Given the description of an element on the screen output the (x, y) to click on. 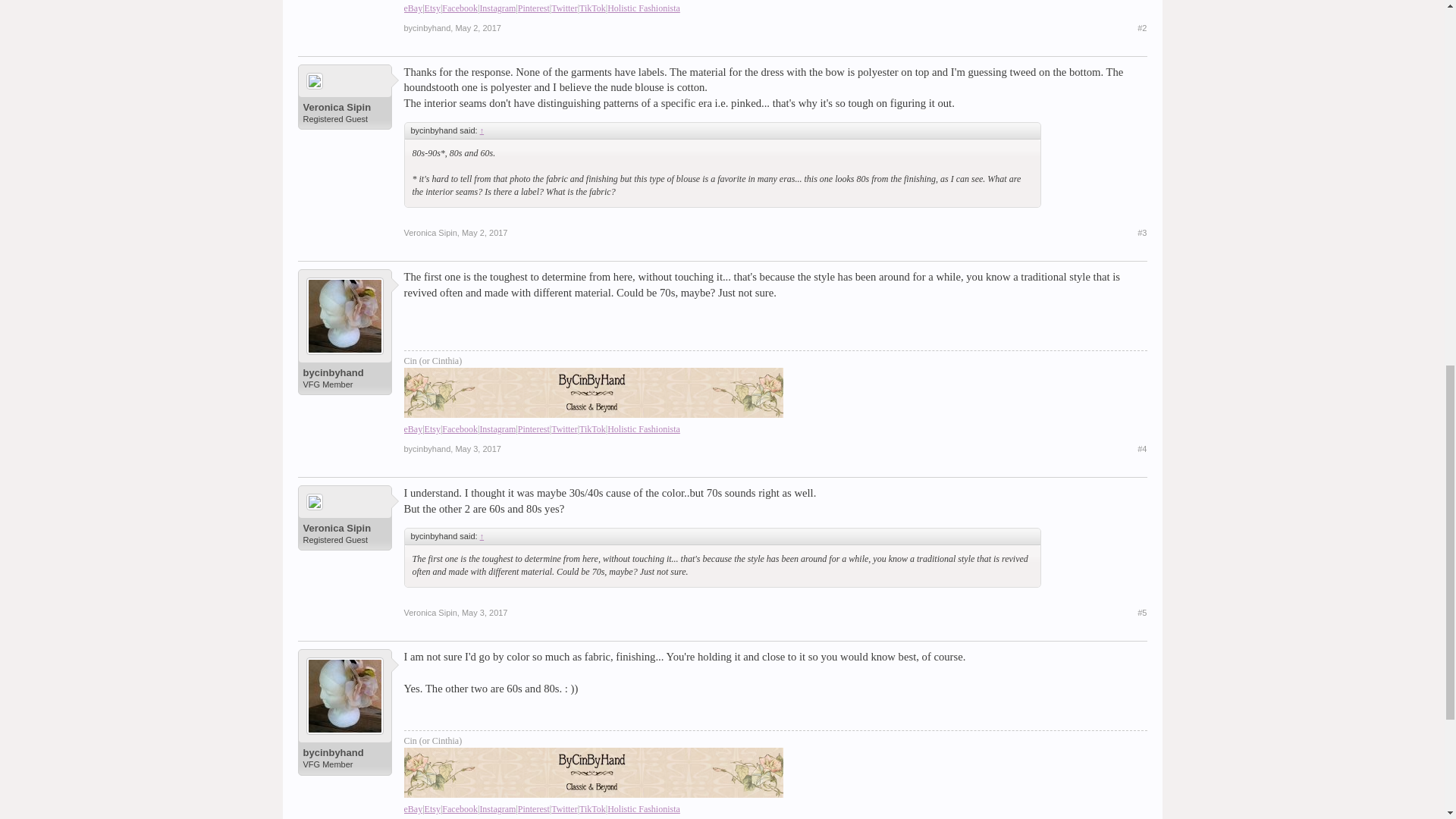
eBay (413, 8)
Permalink (477, 27)
bycinbyhand (426, 27)
Etsy (432, 8)
Pinterest (533, 8)
May 2, 2017 (477, 27)
Facebook (459, 8)
TikTok (592, 8)
Instagram (497, 8)
Permalink (484, 232)
Twitter (563, 8)
Permalink (477, 448)
Holistic Fashionista (643, 8)
